Given the description of an element on the screen output the (x, y) to click on. 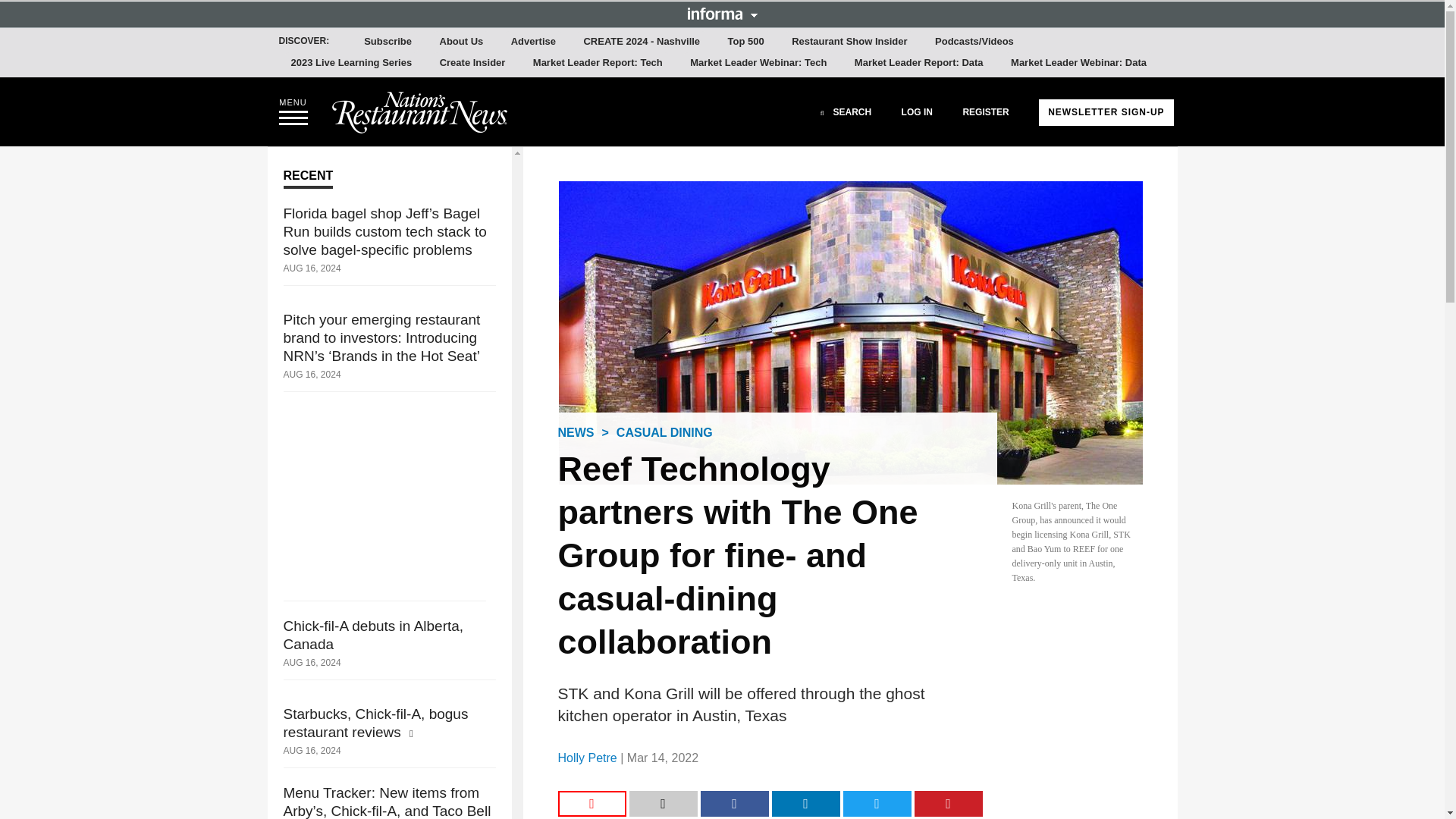
CREATE 2024 - Nashville (641, 41)
2023 Live Learning Series (352, 62)
Advertise (533, 41)
Subscribe (387, 41)
INFORMA (722, 13)
About Us (461, 41)
Market Leader Webinar: Data (1078, 62)
Market Leader Report: Data (919, 62)
Market Leader Report: Tech (597, 62)
Restaurant Show Insider (849, 41)
